Given the description of an element on the screen output the (x, y) to click on. 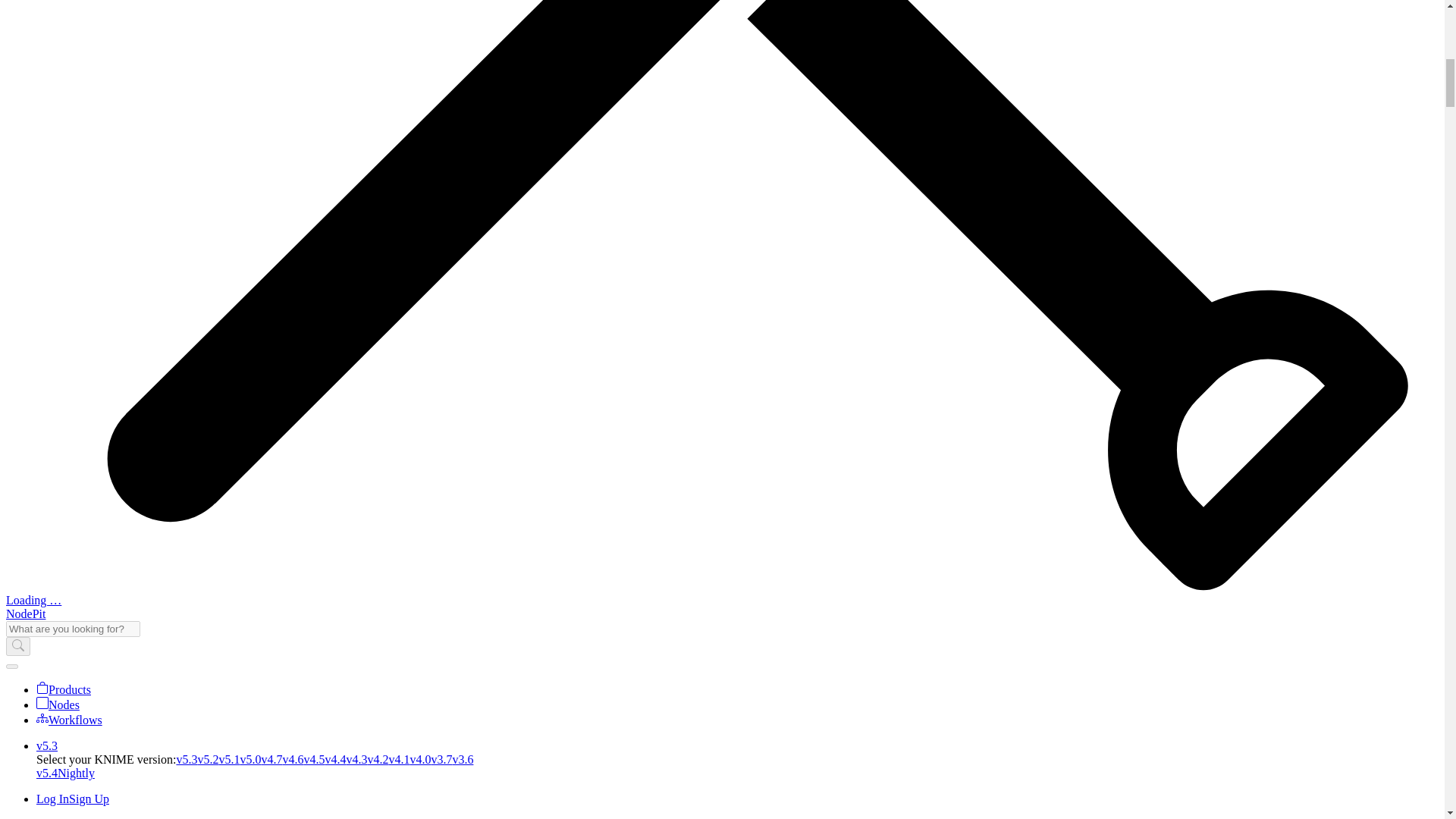
v5.3 (186, 758)
v4.5 (313, 758)
v4.0 (419, 758)
v3.6 (462, 758)
v5.4Nightly (65, 772)
Select your KNIME version (47, 745)
v4.1 (398, 758)
v3.7 (440, 758)
v5.3 (47, 745)
Sign Up (88, 798)
Nodes (58, 704)
v4.6 (292, 758)
Select your KNIME version: (106, 758)
v5.0 (250, 758)
v5.2 (207, 758)
